Given the description of an element on the screen output the (x, y) to click on. 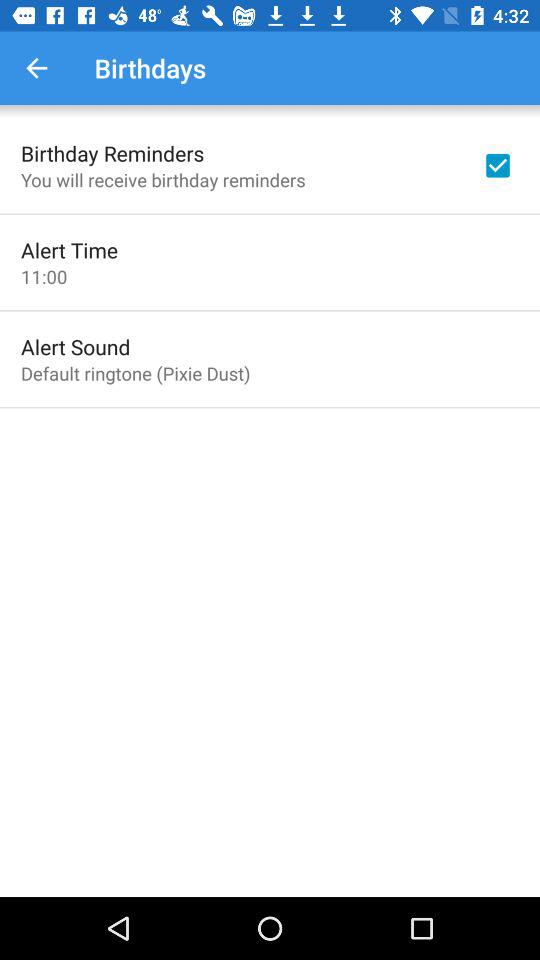
turn on default ringtone pixie icon (135, 373)
